Given the description of an element on the screen output the (x, y) to click on. 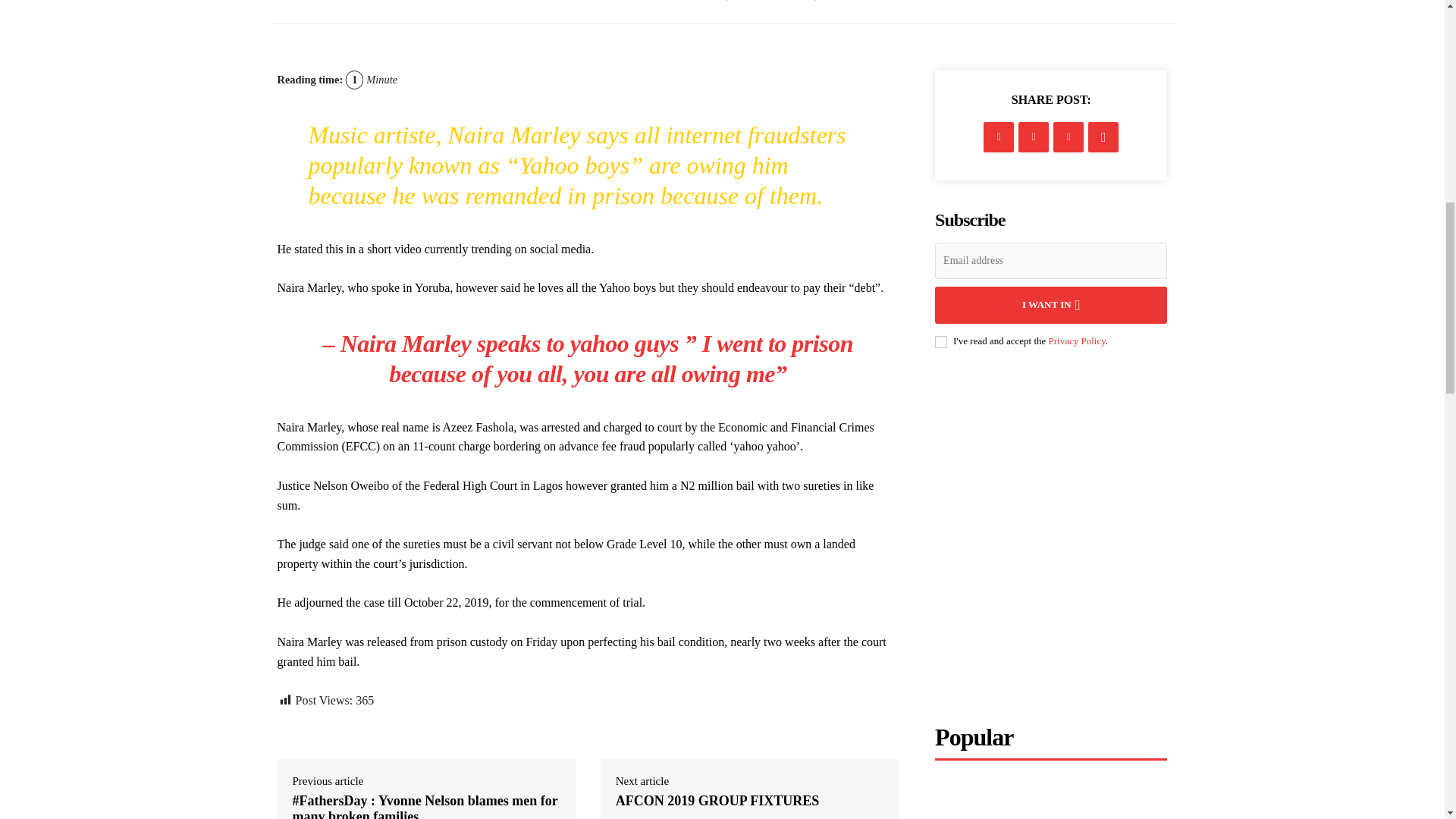
AFCON 2019 GROUP FIXTURES (717, 801)
WhatsApp (1102, 137)
Twitter (1032, 137)
Pinterest (1067, 137)
Facebook (998, 137)
